Given the description of an element on the screen output the (x, y) to click on. 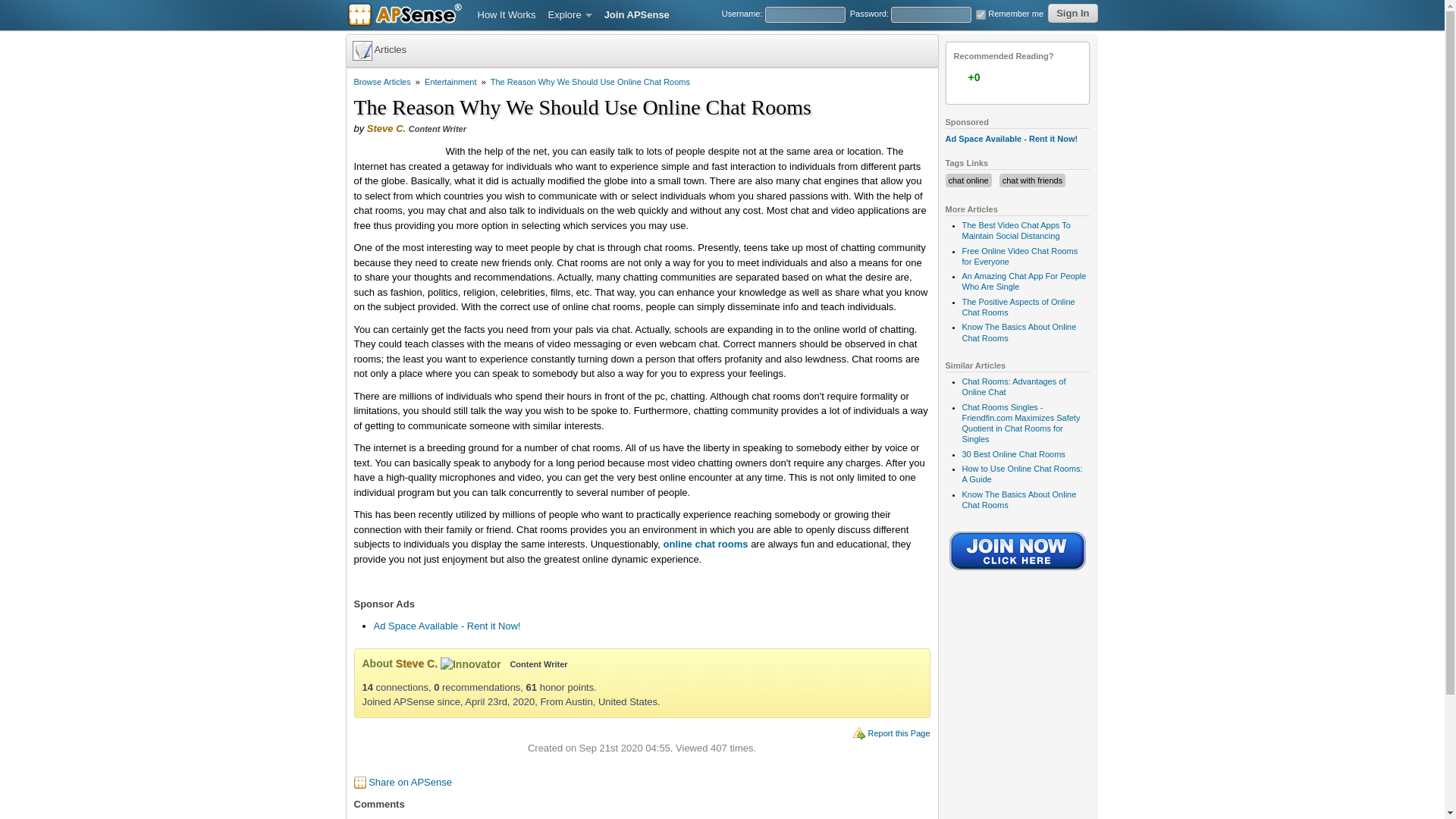
1 (980, 14)
Know The Basics About Online Chat Rooms (1017, 499)
Report this Page (898, 732)
Chat Rooms: Advantages of Online Chat (1012, 386)
Share on APSense (409, 781)
Explore (569, 15)
An Amazing Chat App For People Who Are Single (1023, 281)
30 Best Online Chat Rooms (1012, 453)
Free Online Video Chat Rooms for Everyone (1018, 256)
Entertainment (450, 81)
Ad Space Available - Rent it Now! (445, 625)
The Positive Aspects of Online Chat Rooms (1017, 306)
chat with friends (1032, 180)
1 (1002, 77)
Steve C. (386, 128)
